Given the description of an element on the screen output the (x, y) to click on. 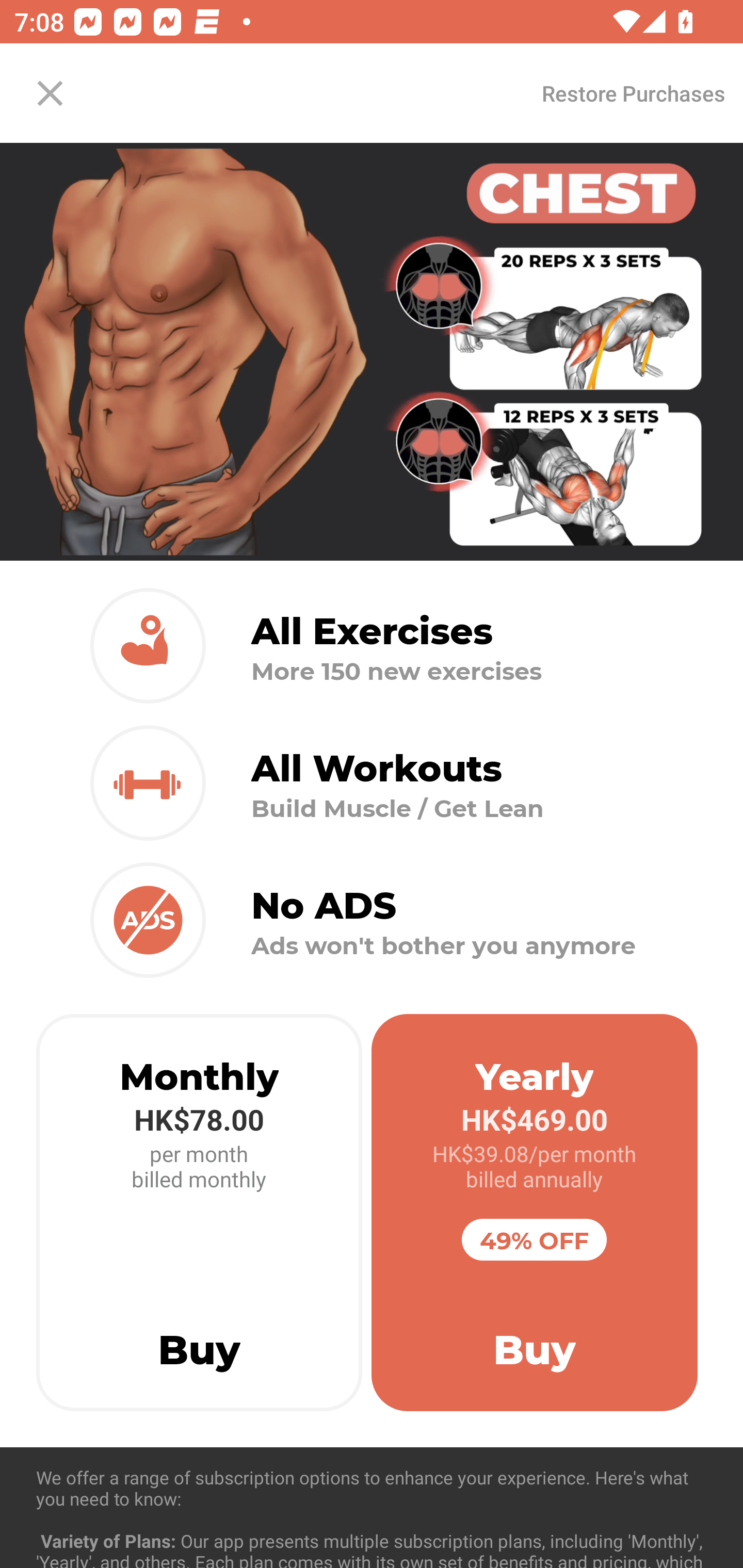
Restore Purchases (632, 92)
Monthly HK$78.00 per month
billed monthly Buy (199, 1212)
